Given the description of an element on the screen output the (x, y) to click on. 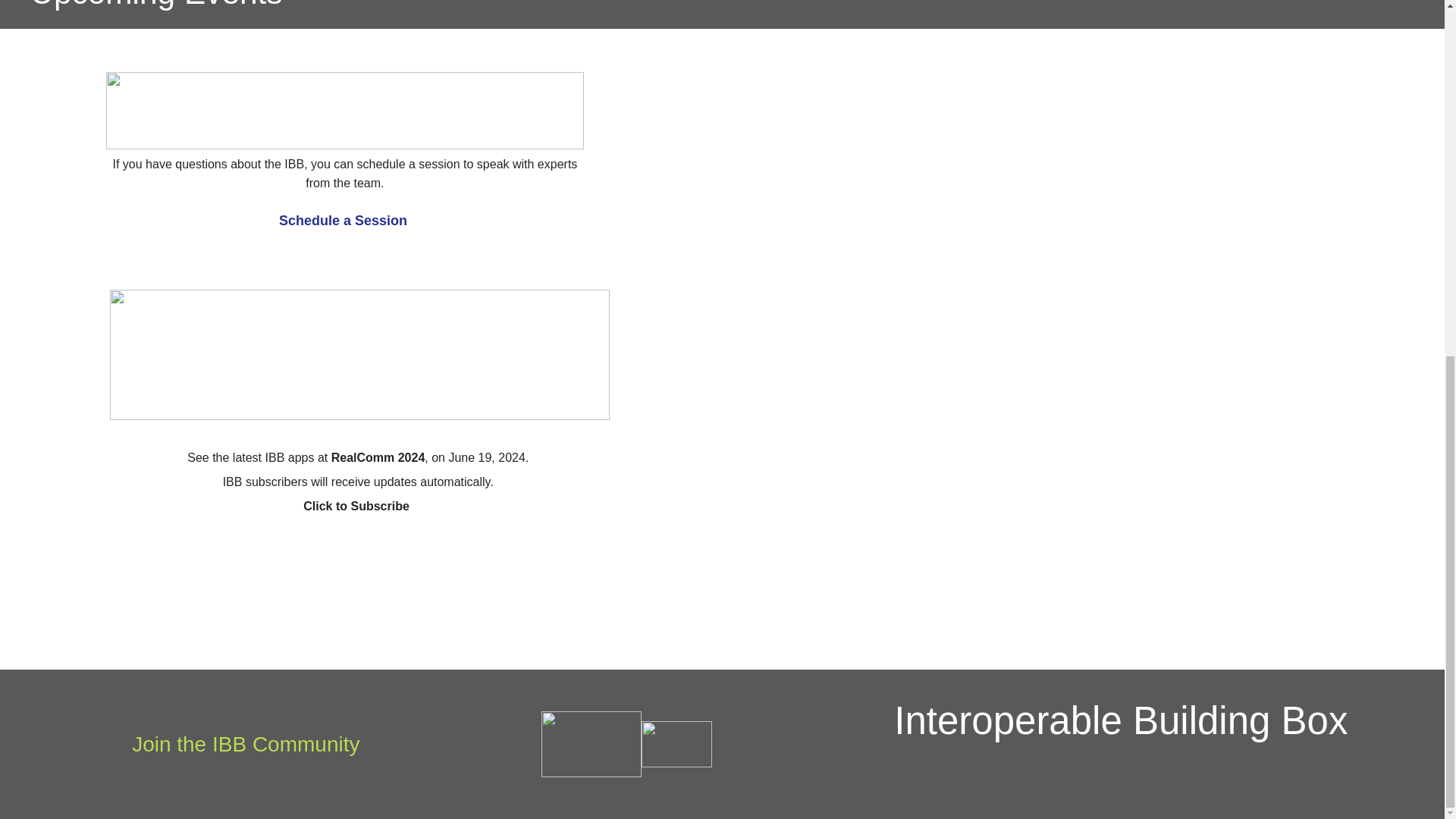
Schedule a Session  (344, 220)
RealComm 2024 (378, 457)
Join the IBB Community (245, 743)
Click to Subscribe (355, 505)
